Given the description of an element on the screen output the (x, y) to click on. 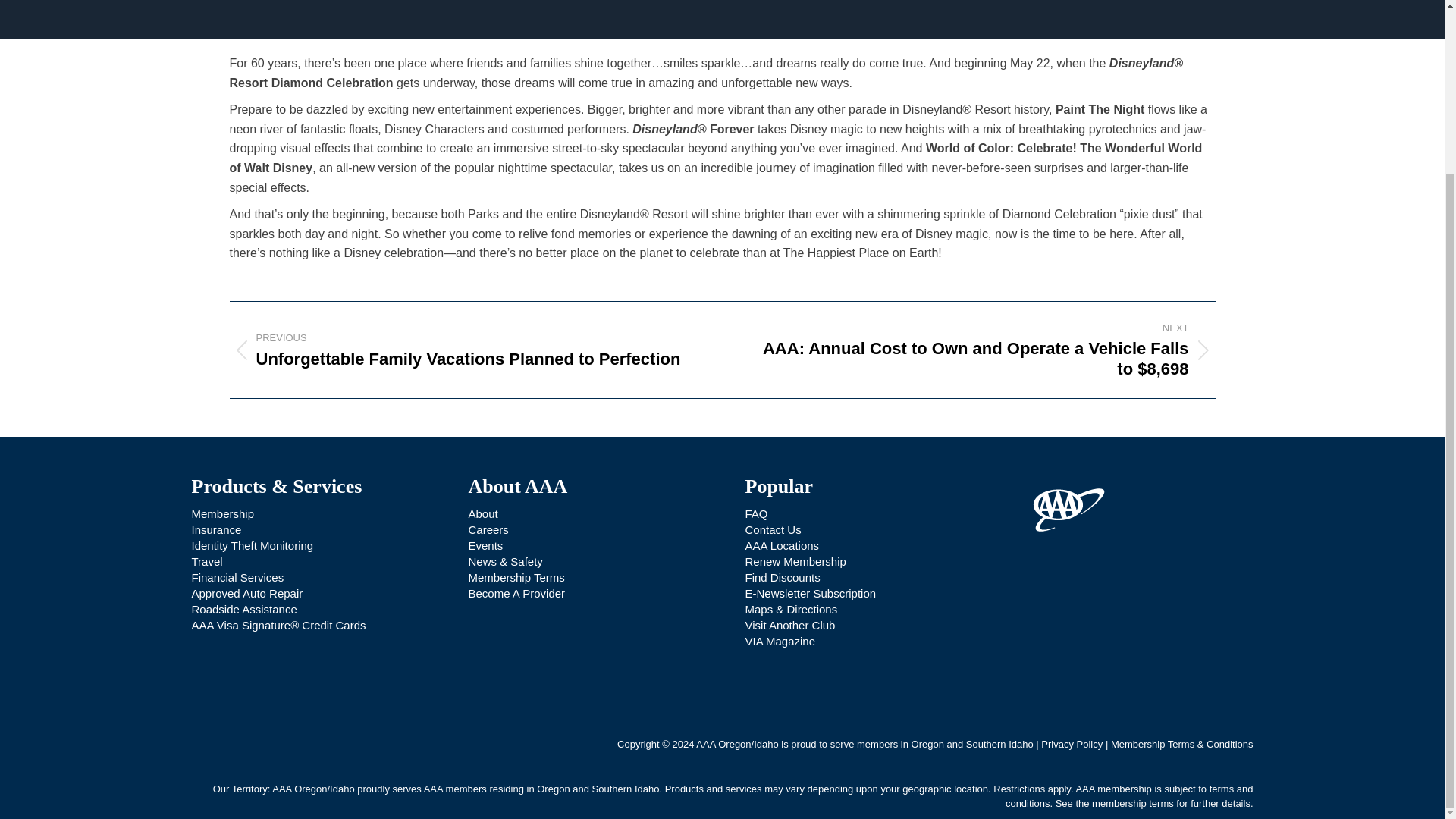
Insurance (215, 529)
Membership (221, 513)
